Given the description of an element on the screen output the (x, y) to click on. 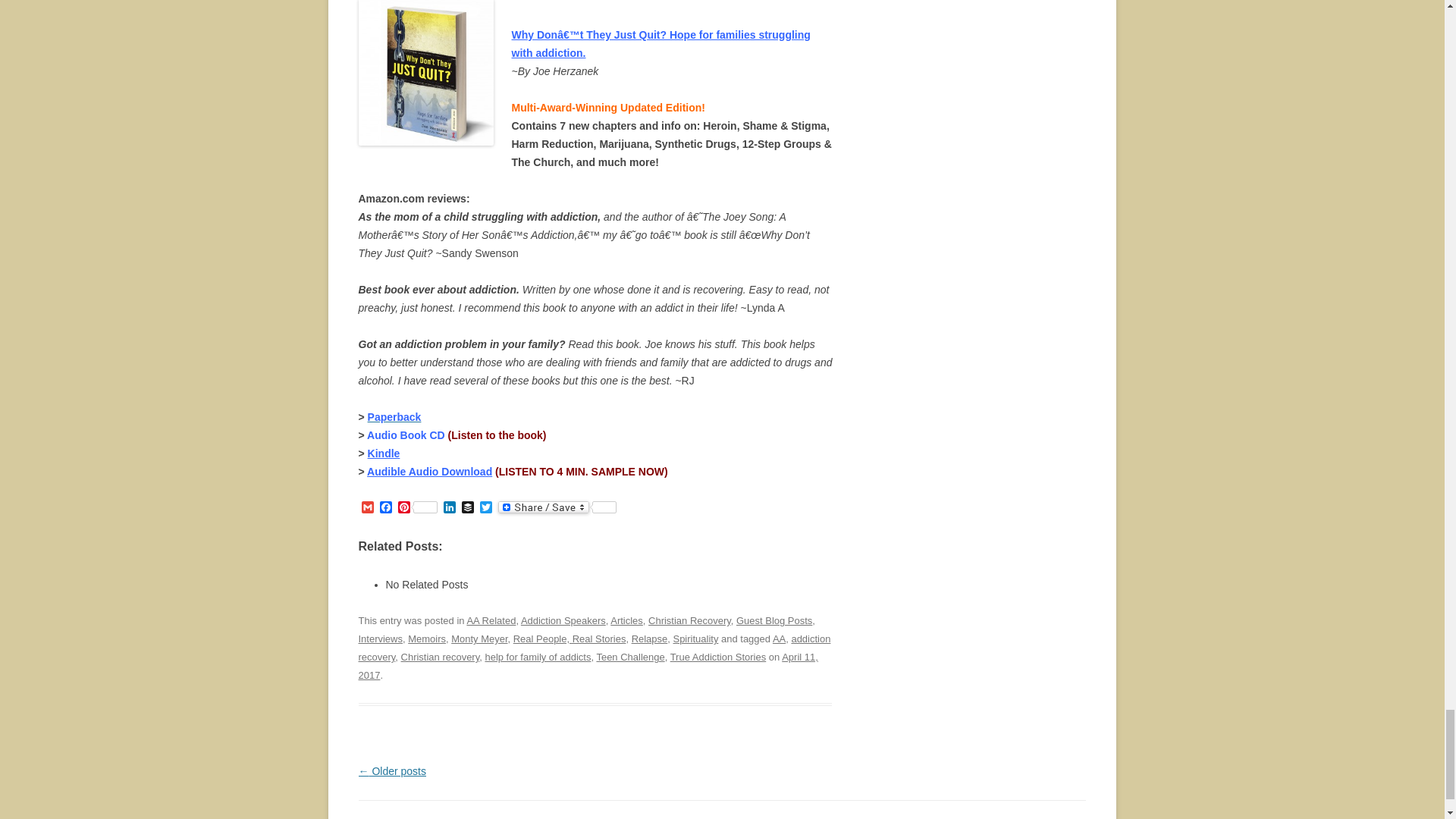
Amazon Paperback (395, 417)
Paperback (395, 417)
Gmail (366, 508)
Audible Audio Download (429, 471)
Facebook (384, 508)
Kindle (384, 453)
